Given the description of an element on the screen output the (x, y) to click on. 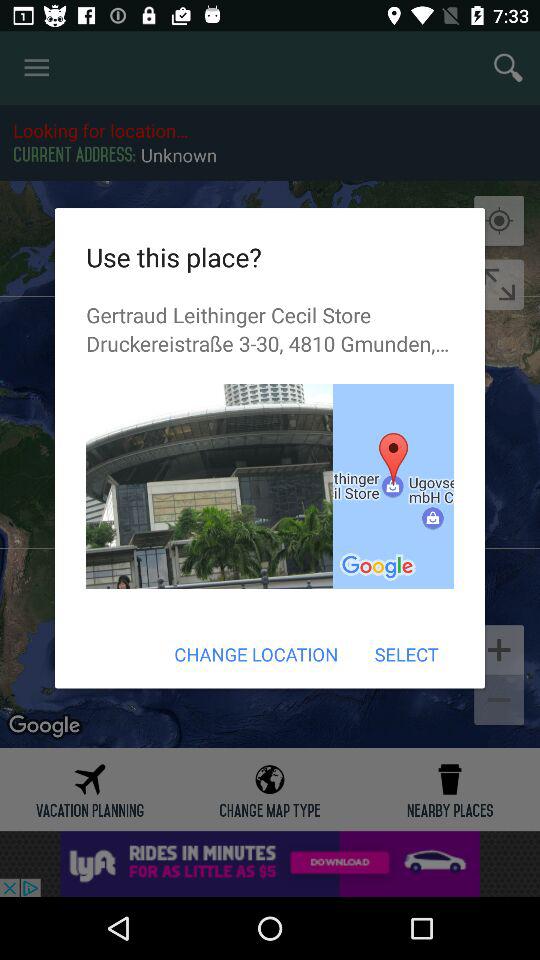
turn off the change location (256, 654)
